Given the description of an element on the screen output the (x, y) to click on. 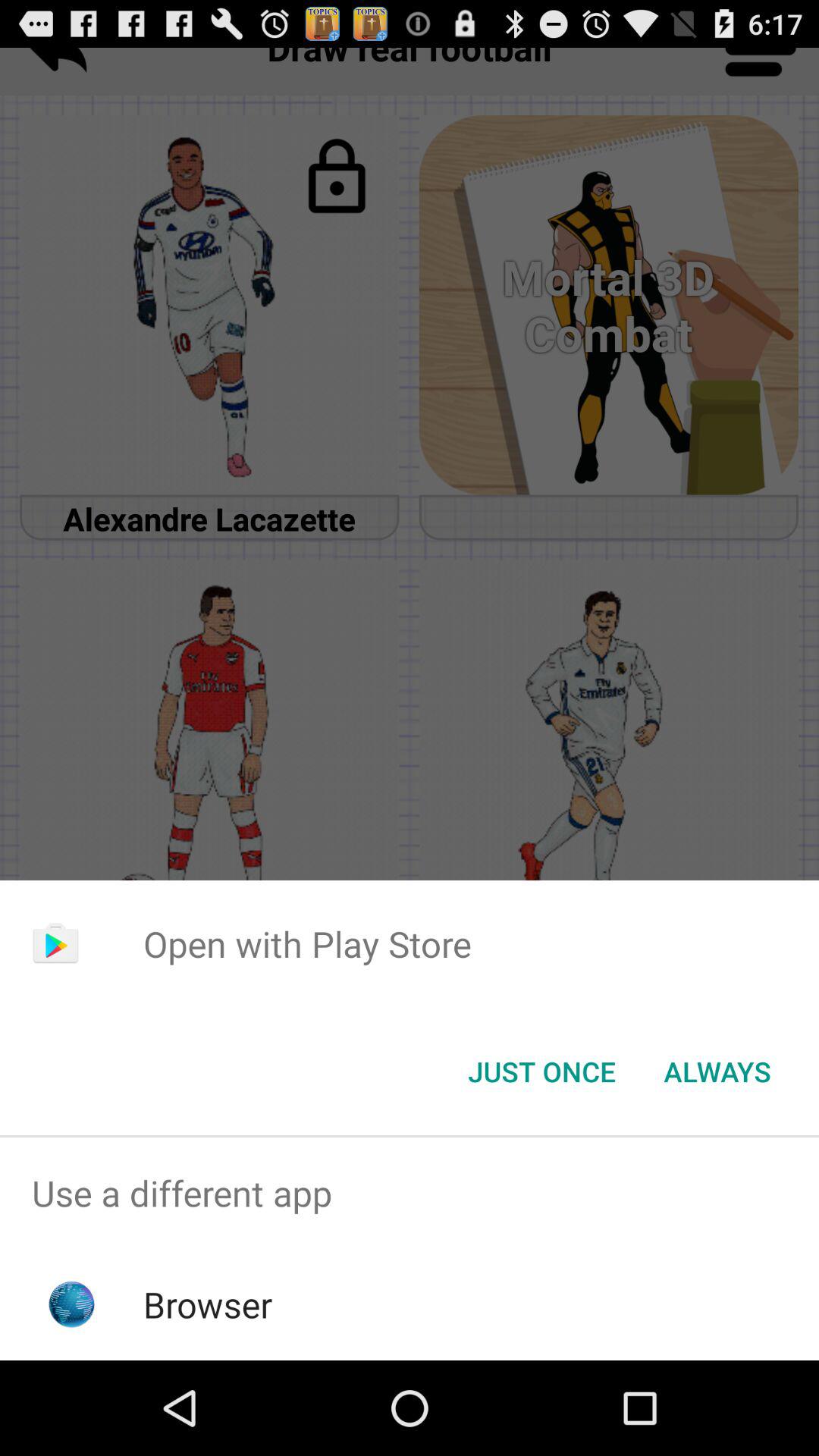
jump until just once button (541, 1071)
